Given the description of an element on the screen output the (x, y) to click on. 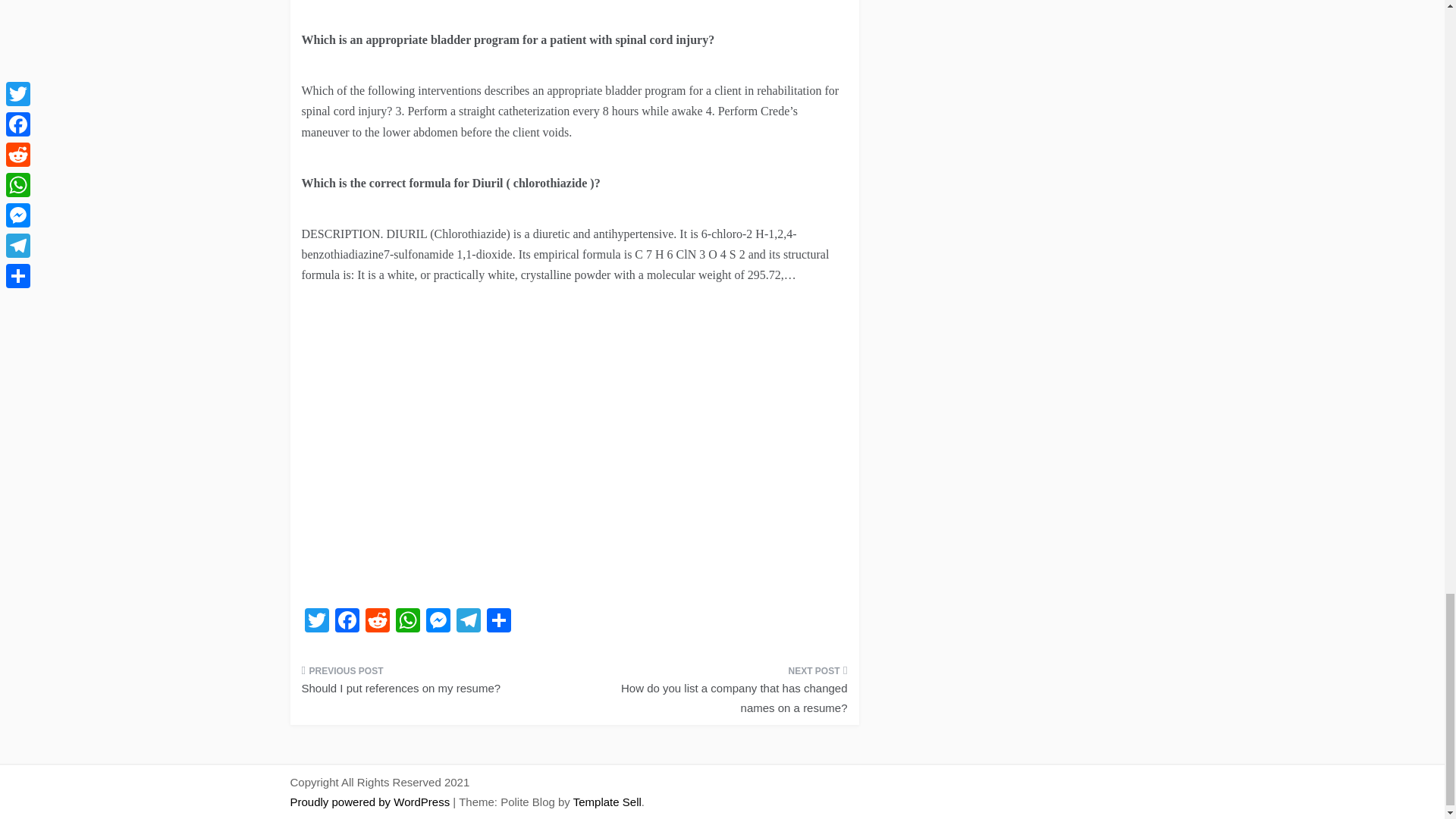
Should I put references on my resume? (432, 684)
Template Sell (607, 801)
Messenger (437, 622)
Twitter (316, 622)
Messenger (437, 622)
Reddit (377, 622)
Reddit (377, 622)
WhatsApp (408, 622)
Telegram (467, 622)
Proudly powered by WordPress (370, 801)
